Given the description of an element on the screen output the (x, y) to click on. 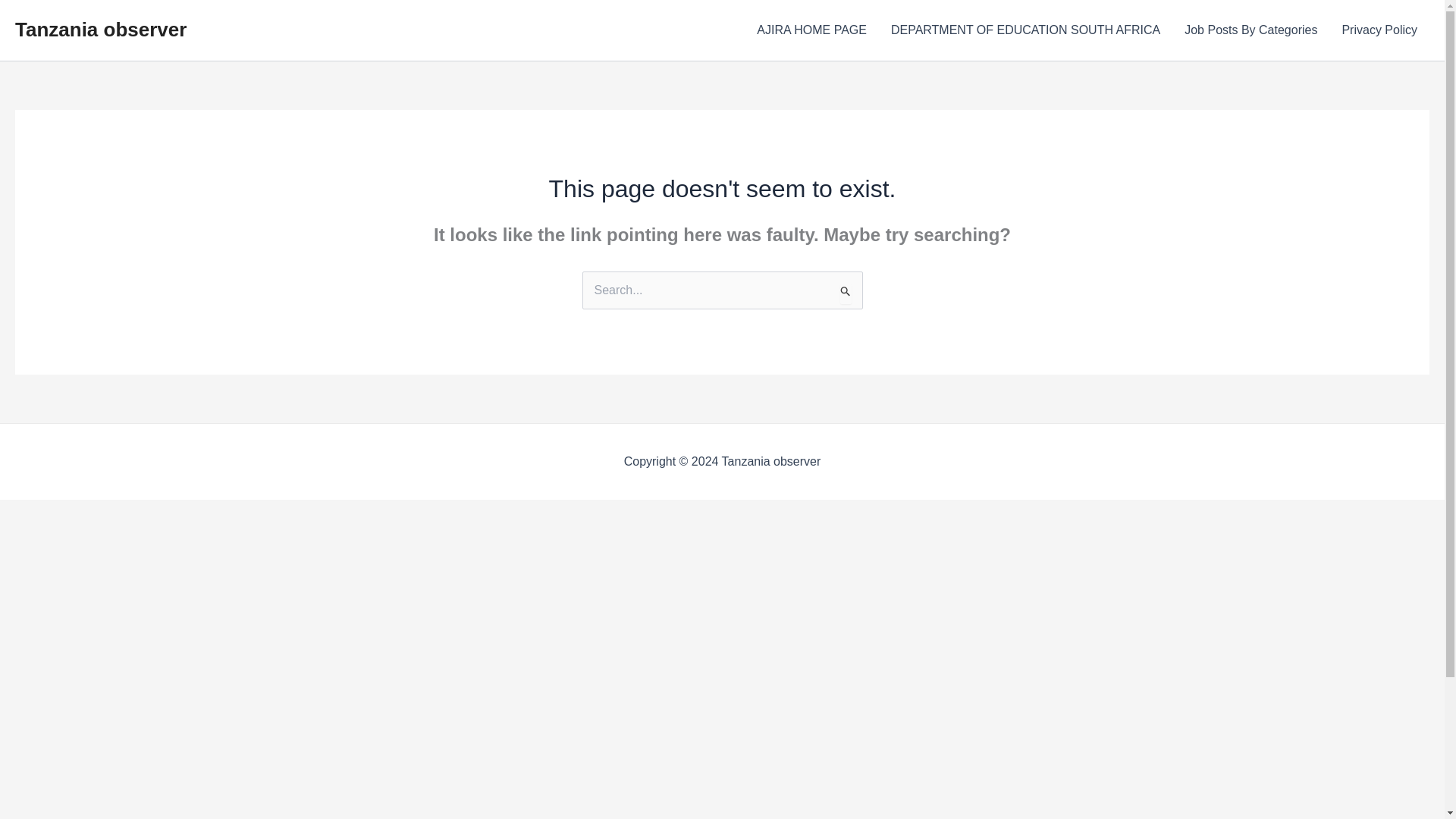
Tanzania observer (100, 29)
AJIRA HOME PAGE (811, 30)
Job Posts By Categories (1250, 30)
DEPARTMENT OF EDUCATION SOUTH AFRICA (1025, 30)
Privacy Policy (1379, 30)
